Given the description of an element on the screen output the (x, y) to click on. 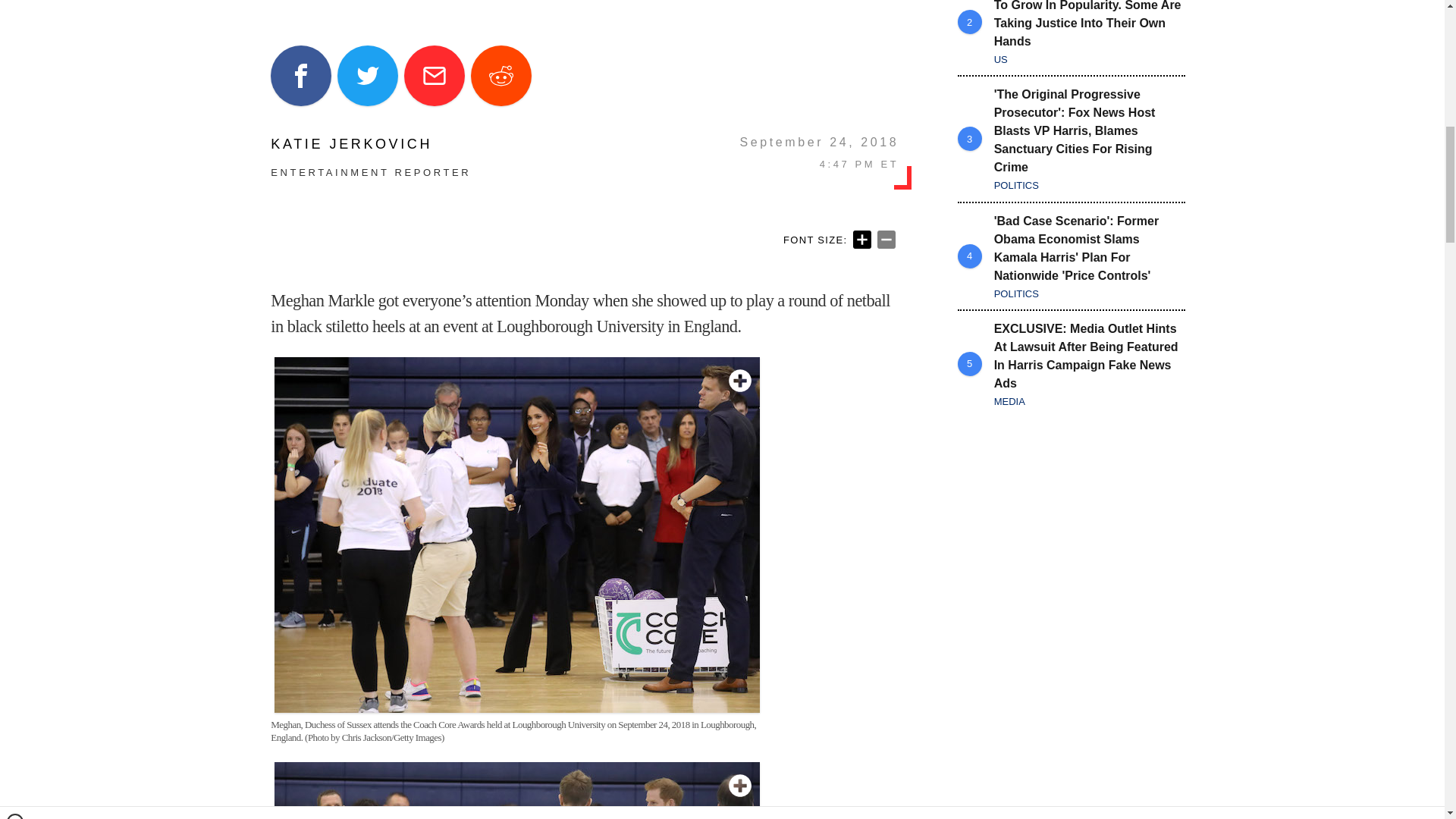
View More Articles By Katie Jerkovich (370, 144)
Close window (14, 6)
KATIE JERKOVICH (370, 144)
